Given the description of an element on the screen output the (x, y) to click on. 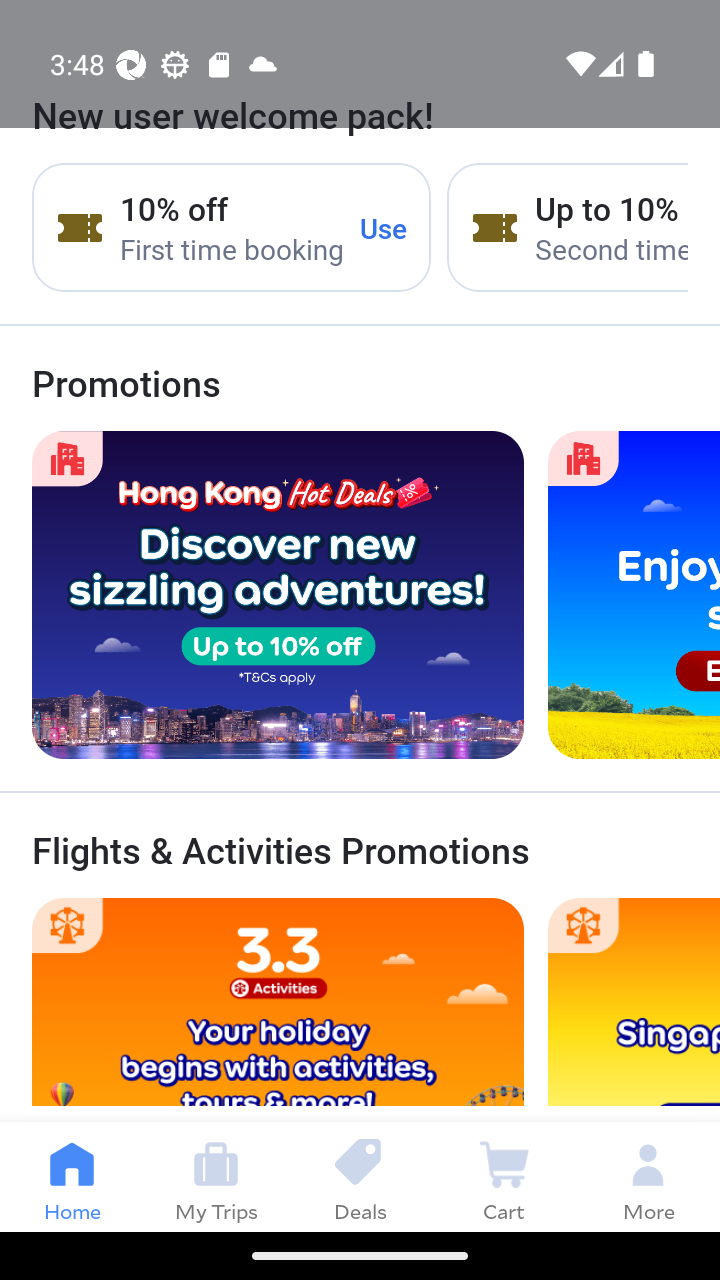
Use (384, 228)
Home (72, 1176)
My Trips (216, 1176)
Deals (360, 1176)
Cart (504, 1176)
More (648, 1176)
